Given the description of an element on the screen output the (x, y) to click on. 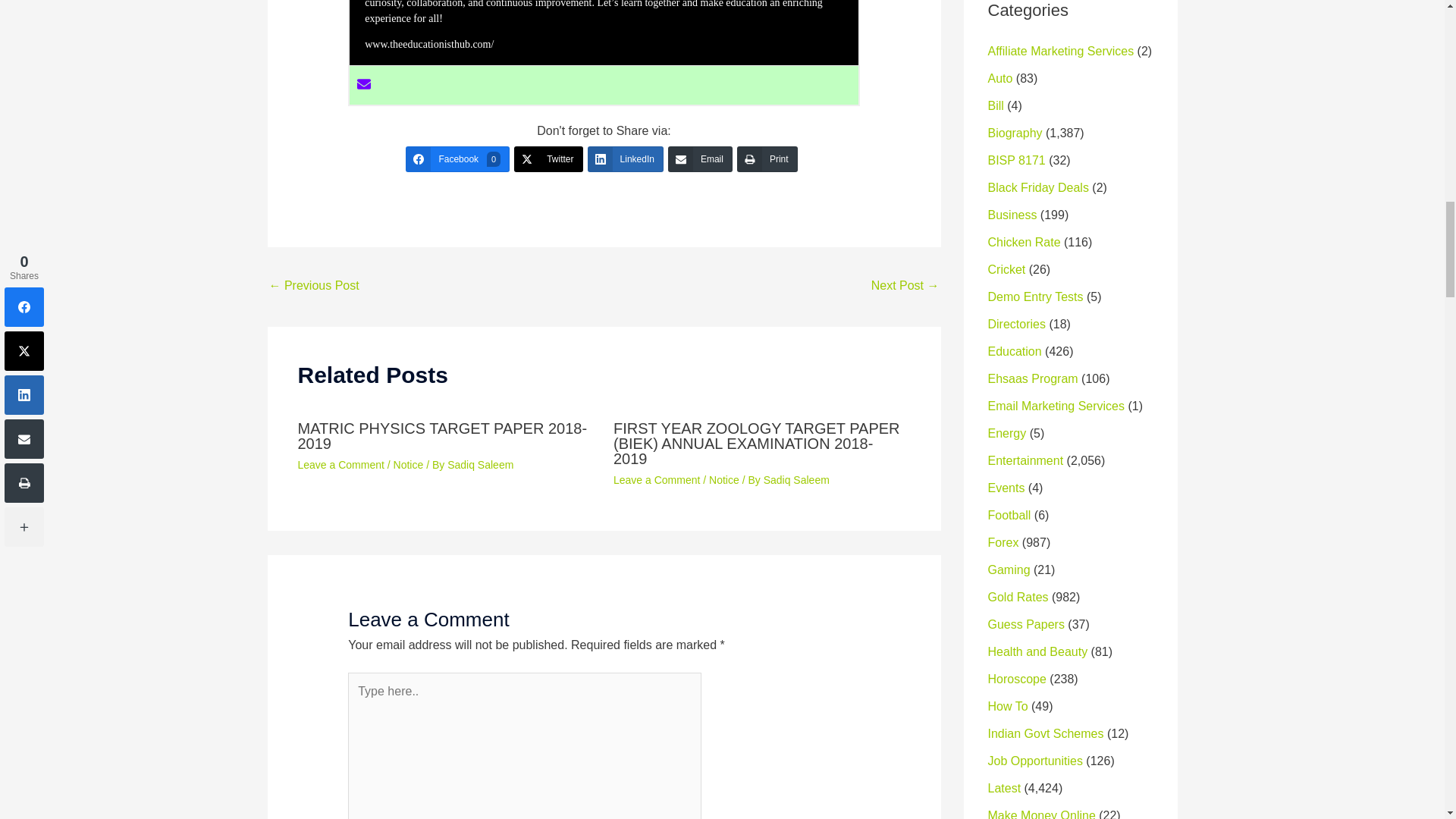
View all posts by Sadiq Saleem (479, 464)
View all posts by Sadiq Saleem (795, 480)
